Given the description of an element on the screen output the (x, y) to click on. 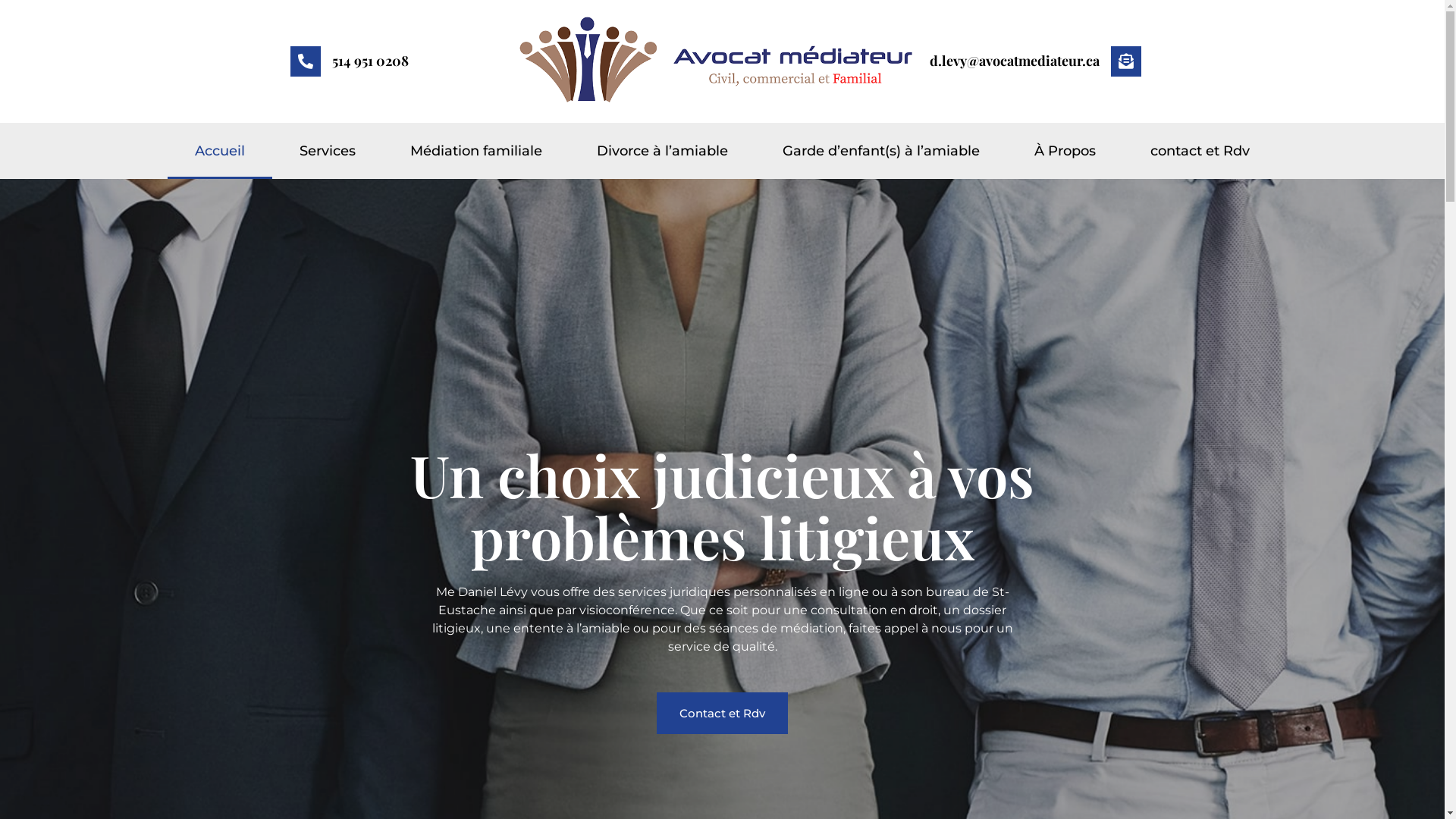
Contact et Rdv Element type: text (721, 712)
514 951 0208 Element type: text (370, 60)
Services Element type: text (327, 150)
contact et Rdv Element type: text (1200, 150)
Accueil Element type: text (219, 150)
d.levy@avocatmediateur.ca Element type: text (1014, 60)
